Given the description of an element on the screen output the (x, y) to click on. 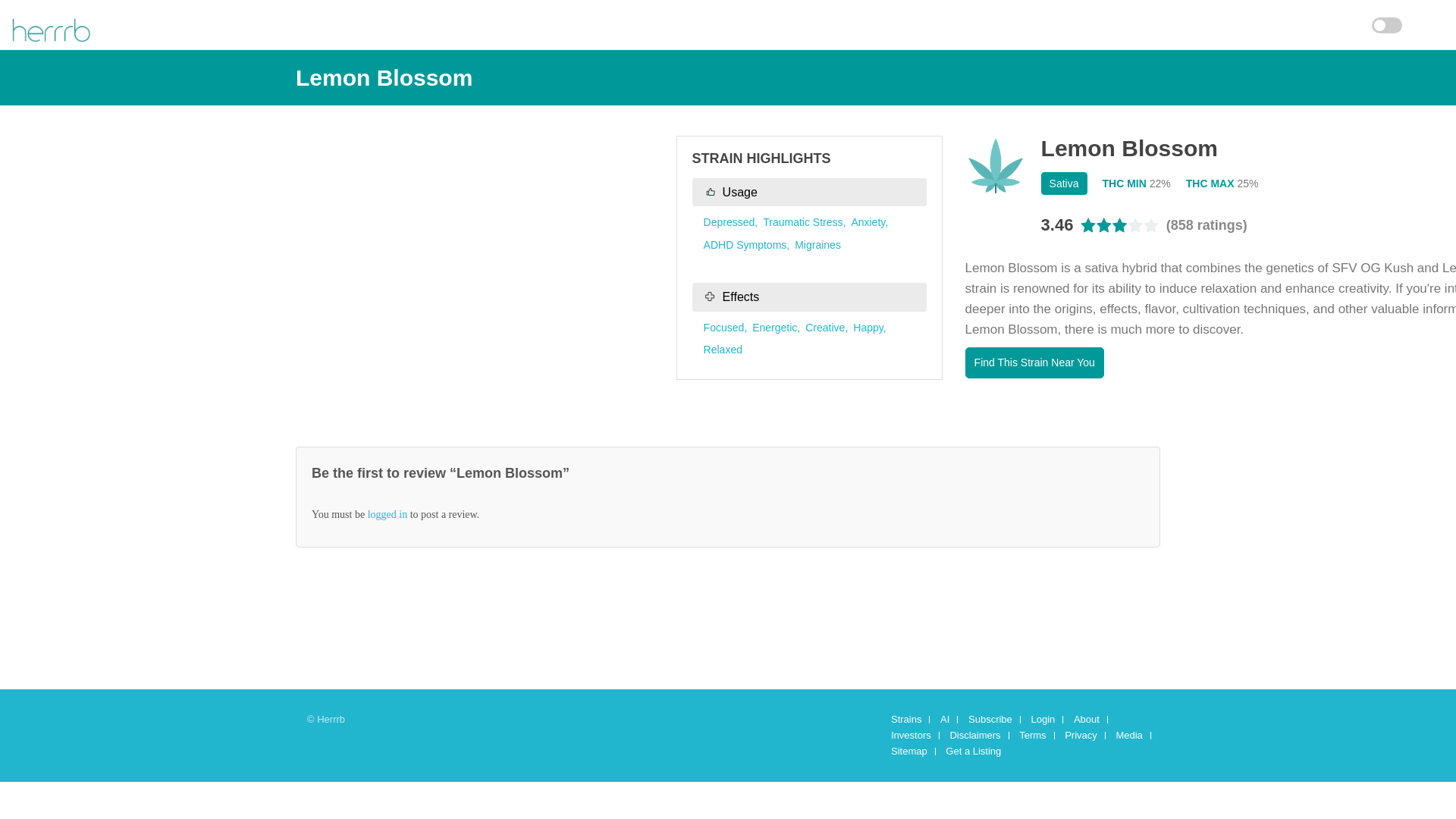
Creative, (826, 327)
Focused, (725, 327)
Find This Strain Near You (1034, 362)
Depressed, (730, 222)
ADHD Symptoms, (746, 244)
Sativa (1064, 182)
Energetic, (775, 327)
Traumatic Stress, (803, 222)
Anxiety, (869, 222)
Migraines (817, 244)
Happy, (869, 327)
Relaxed (722, 349)
